Given the description of an element on the screen output the (x, y) to click on. 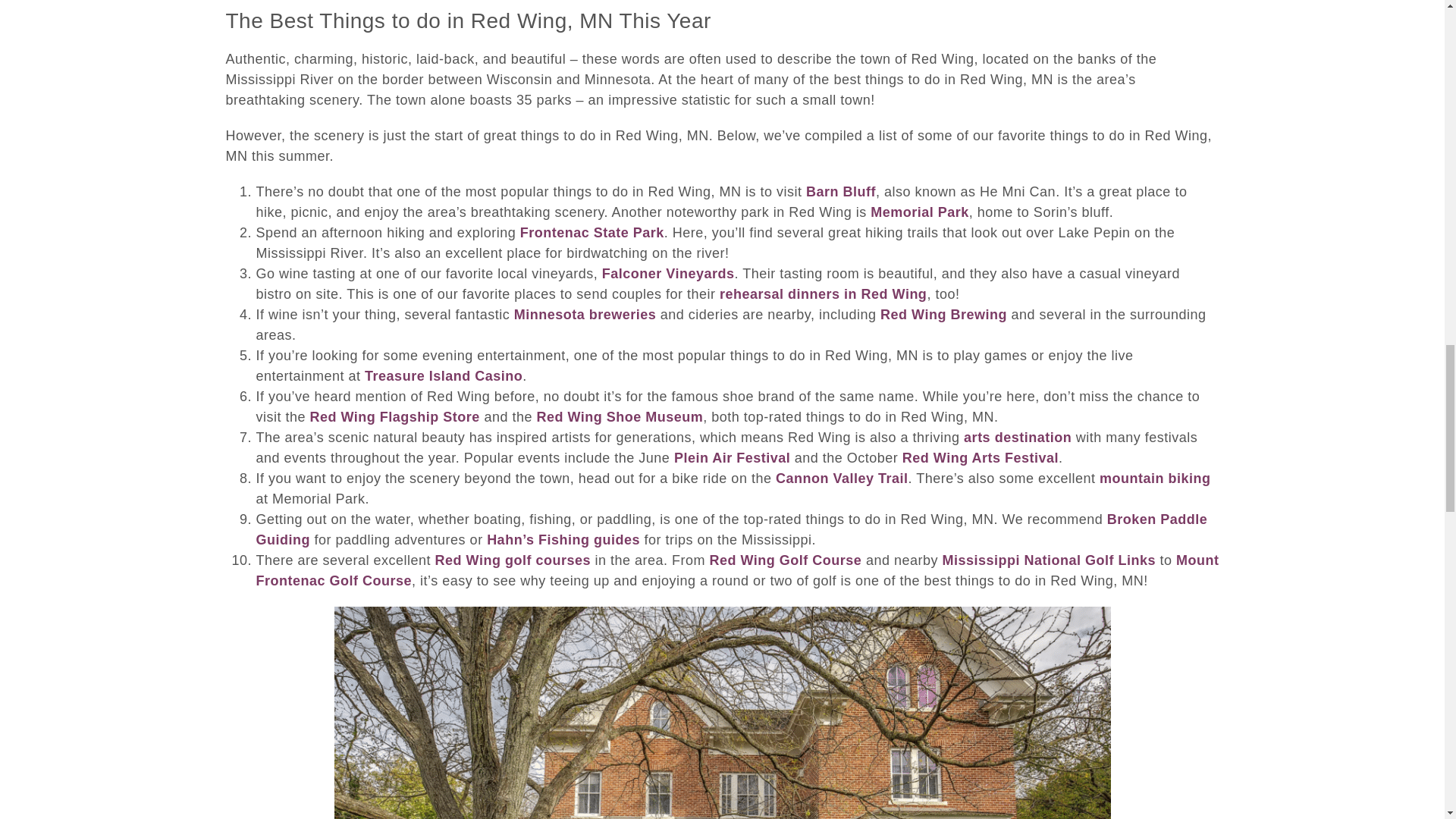
mountain biking (1155, 478)
Broken Paddle Guiding (732, 529)
Cannon Valley Trail (842, 478)
arts destination (1017, 437)
Memorial Park (919, 212)
Red Wing Arts Festival (980, 458)
Red Wing Brewing (943, 314)
Frontenac State Park (591, 232)
Plein Air Festival (732, 458)
Red Wing Shoe Museum (619, 417)
